Given the description of an element on the screen output the (x, y) to click on. 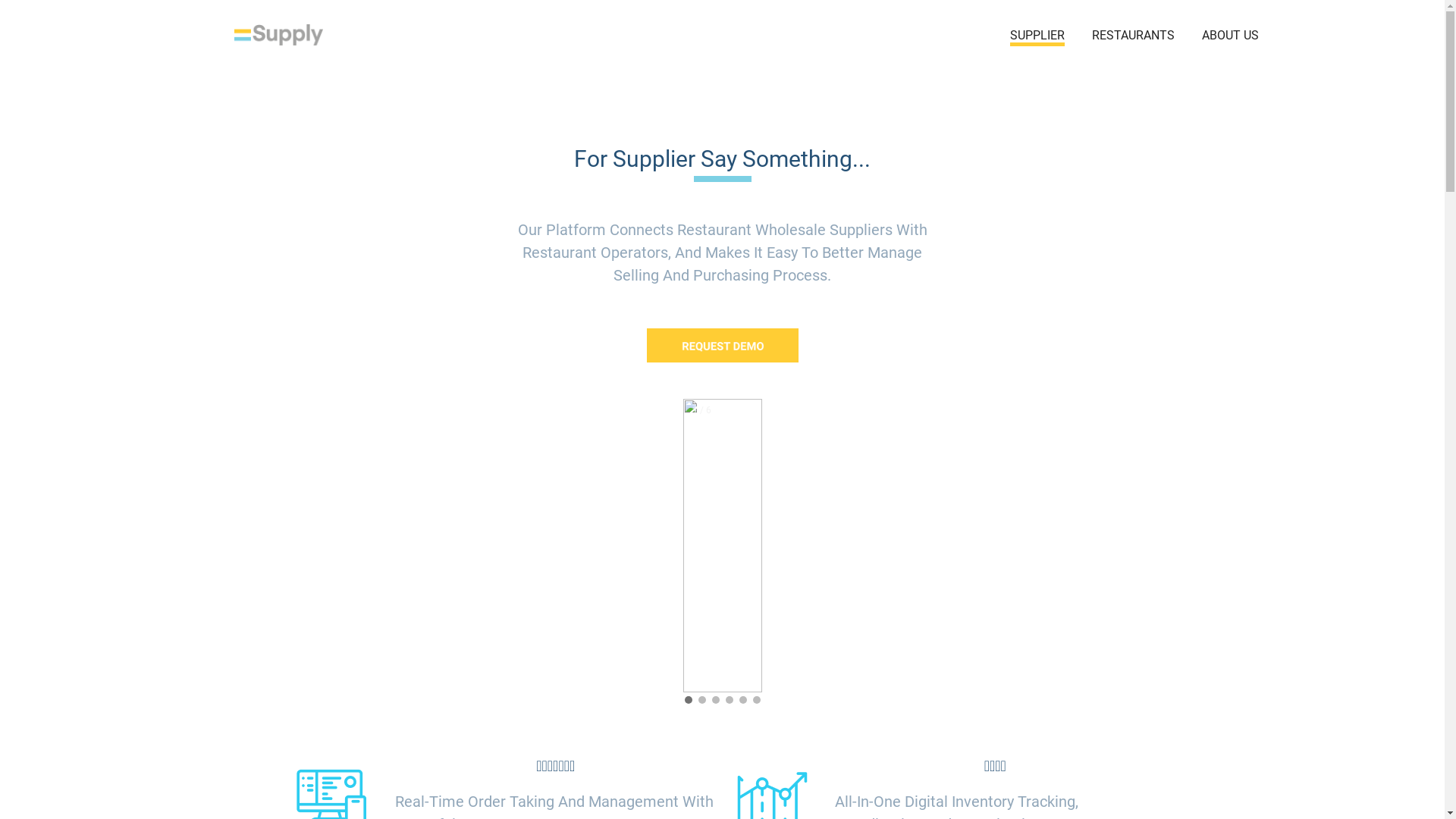
RESTAURANTS Element type: text (1133, 34)
SUPPLIER Element type: text (1037, 36)
ABOUT US Element type: text (1229, 34)
